Given the description of an element on the screen output the (x, y) to click on. 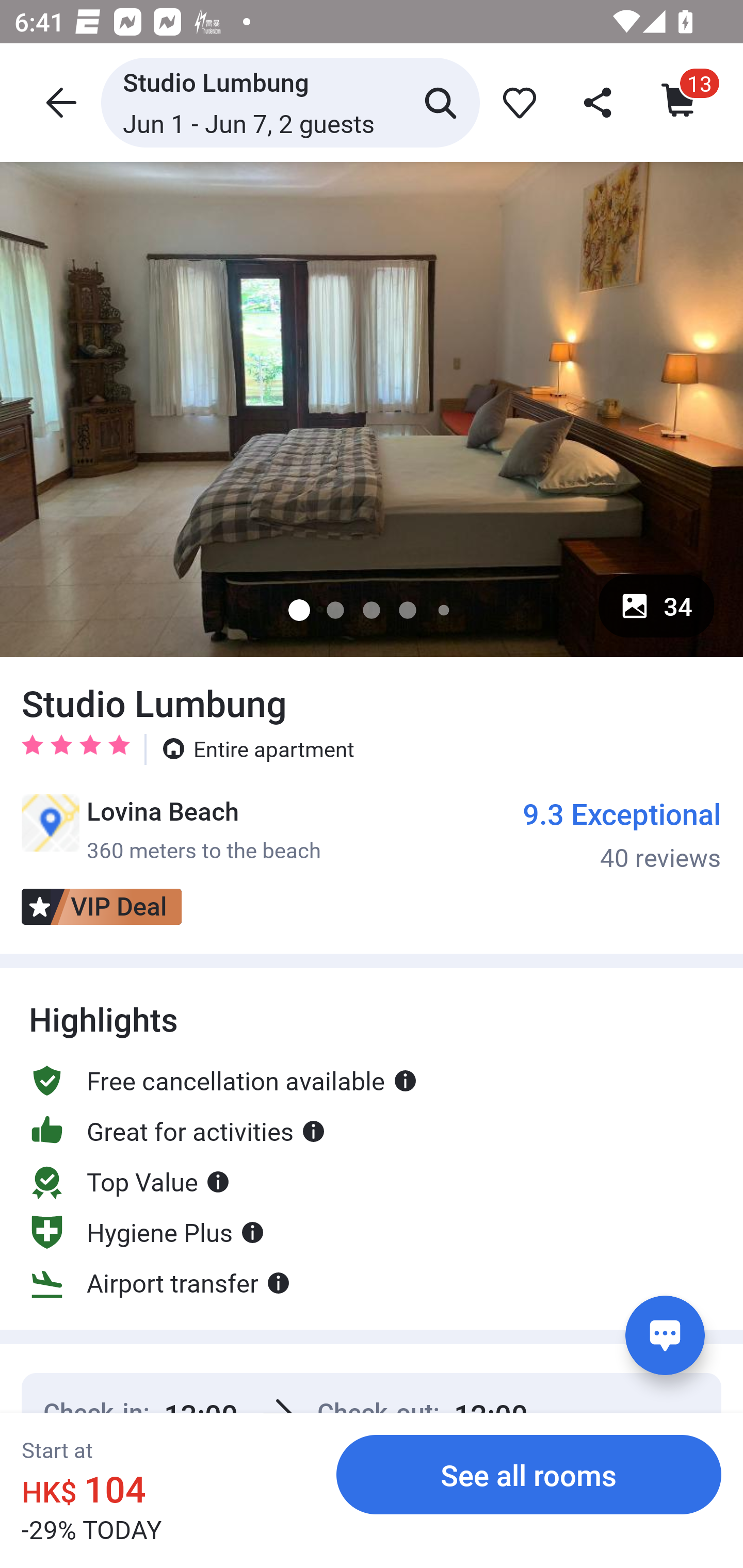
header icon (59, 102)
favorite_icon 0dbe6efb (515, 102)
share_header_icon (598, 102)
Cart icon cart_item_count 13 (679, 102)
image (371, 408)
34 (656, 605)
Lovina Beach 360 meters to the beach (170, 829)
9.3 Exceptional 40 reviews (621, 834)
Free cancellation available (222, 1081)
Great for activities (177, 1131)
Airport transfer (159, 1282)
See all rooms (528, 1474)
